Given the description of an element on the screen output the (x, y) to click on. 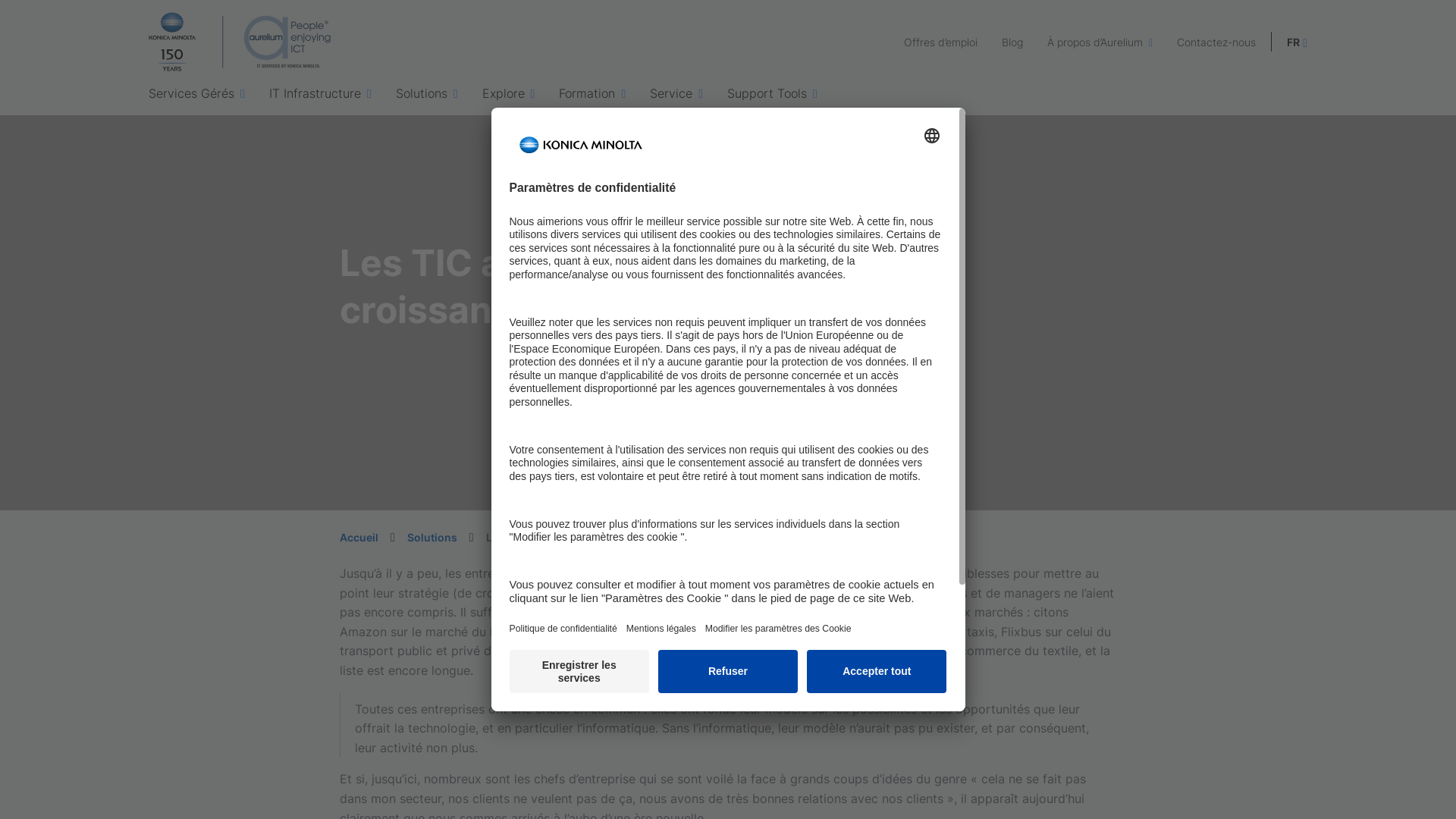
Accueil Element type: text (358, 537)
Service Element type: text (675, 92)
FR Element type: text (1296, 41)
Contactez-nous Element type: text (1215, 41)
Formation Element type: text (591, 92)
Explore Element type: text (508, 92)
Solutions Element type: text (432, 537)
Aller au contenu principal Element type: text (0, 0)
Blog Element type: text (1011, 41)
IT Infrastructure Element type: text (320, 92)
Support Tools Element type: text (772, 92)
Solutions Element type: text (426, 92)
